Given the description of an element on the screen output the (x, y) to click on. 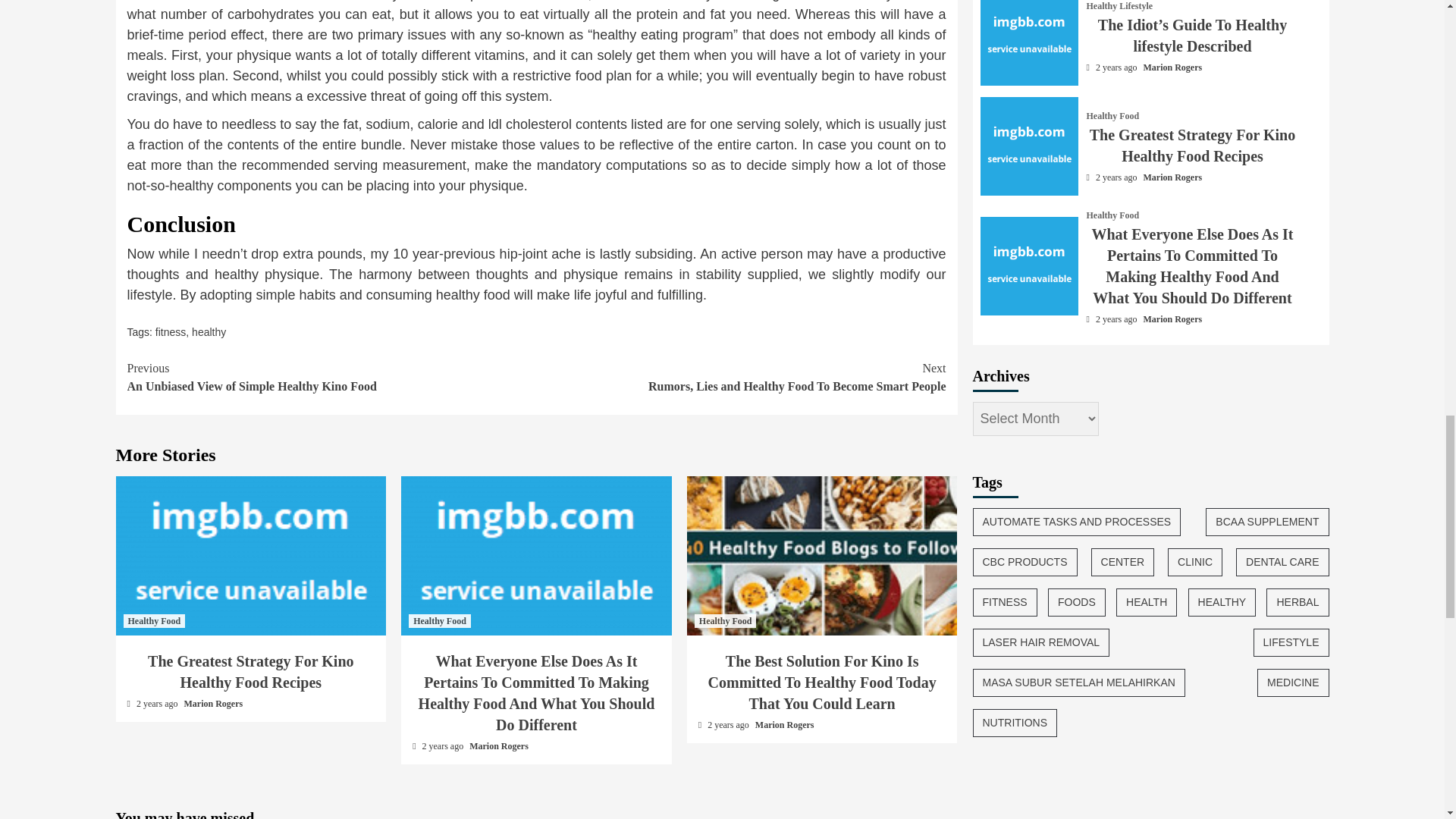
Healthy Food (725, 621)
Healthy Food (439, 621)
Marion Rogers (741, 377)
Marion Rogers (213, 703)
Marion Rogers (784, 724)
The Greatest Strategy For Kino Healthy Food Recipes (498, 746)
The Greatest Strategy For Kino Healthy Food Recipes (250, 671)
Healthy Food (250, 555)
fitness (332, 377)
